Given the description of an element on the screen output the (x, y) to click on. 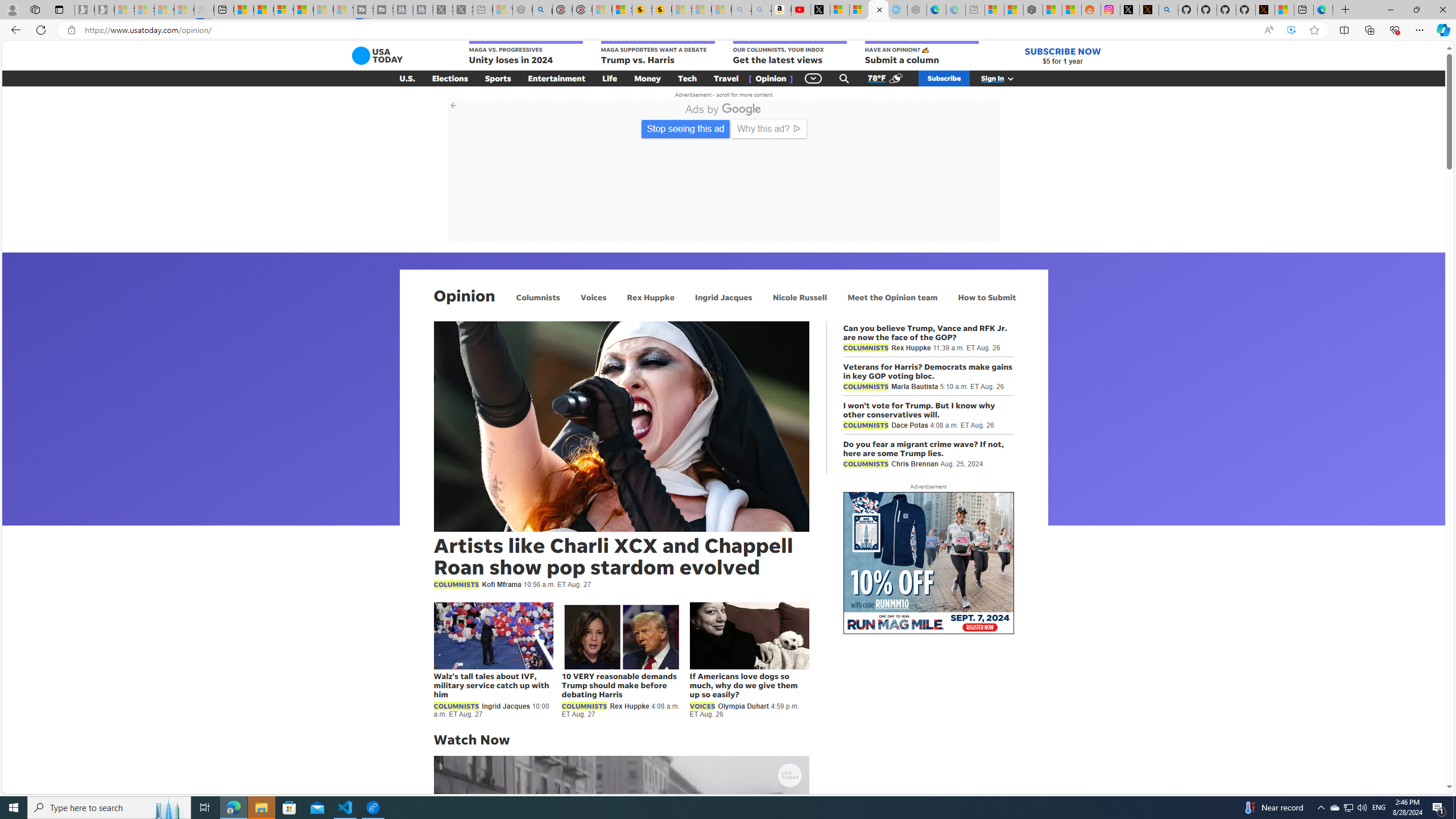
MAGA VS. PROGRESSIVES Unity loses in 2024 (525, 53)
Class: gnt_n_lg_svg (376, 55)
USA TODAY (376, 55)
Class: ns-dqusr-e-26 flip-on-rtl (977, 219)
Nicole Russell (799, 296)
AutomationID: cbb (994, 104)
Entertainment (556, 78)
